Given the description of an element on the screen output the (x, y) to click on. 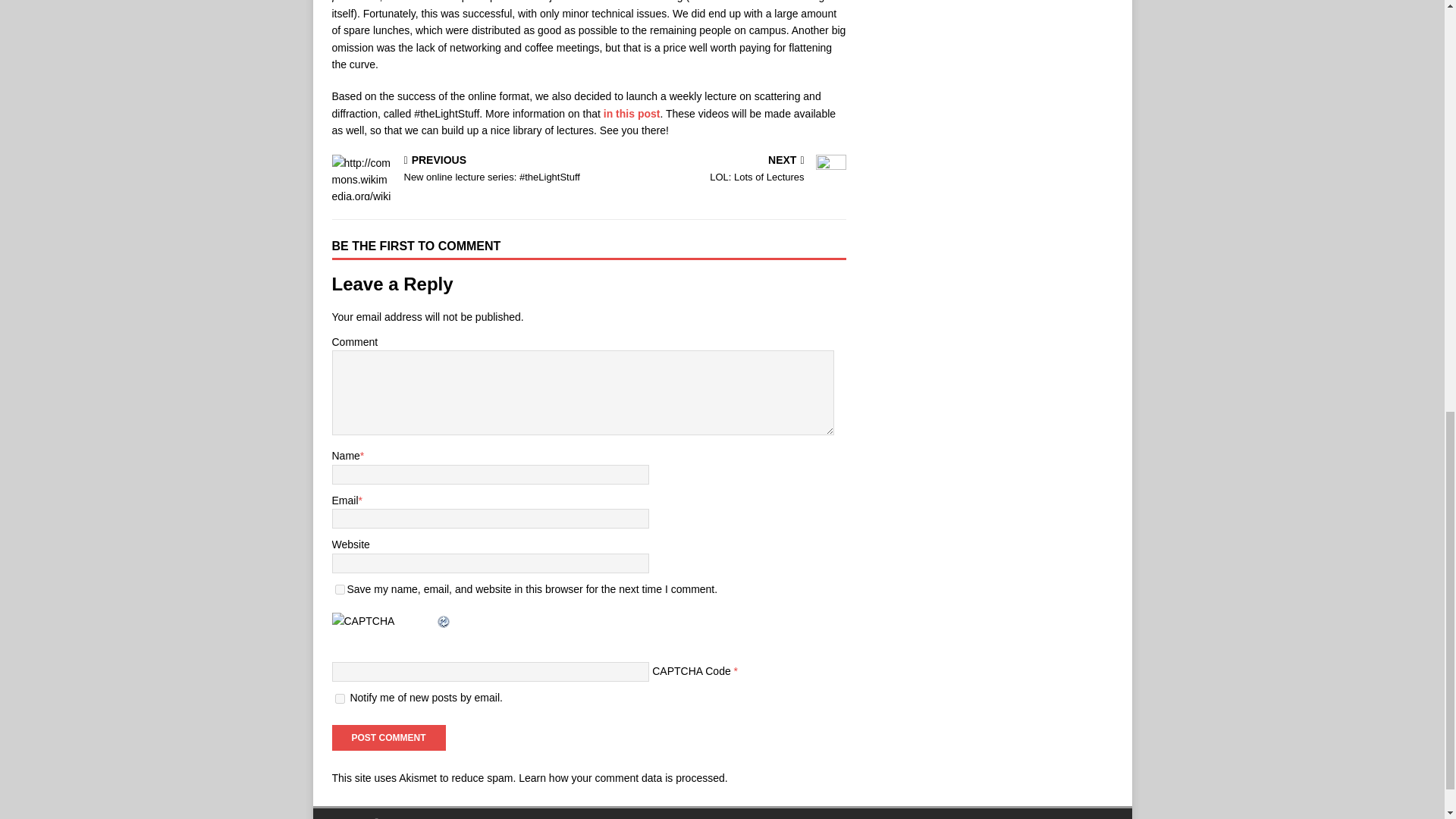
Learn how your comment data is processed (621, 777)
CAPTCHA (720, 169)
Post Comment (383, 629)
subscribe (388, 737)
yes (339, 698)
in this post (339, 589)
Post Comment (632, 113)
Refresh (388, 737)
